Given the description of an element on the screen output the (x, y) to click on. 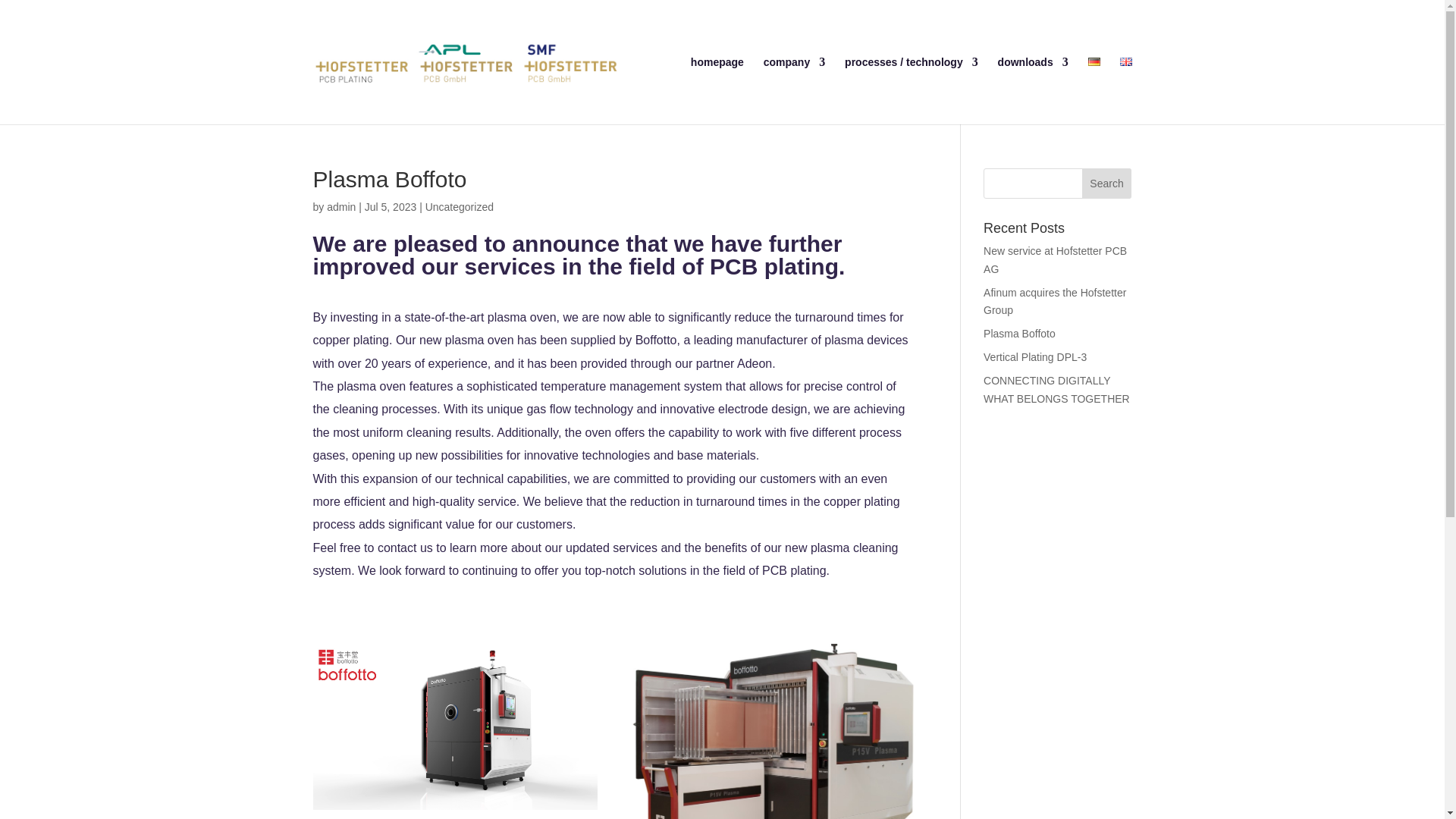
P15V (454, 726)
Search (1106, 183)
downloads (1032, 90)
Posts by admin (340, 206)
company (793, 90)
P15V (772, 731)
